Given the description of an element on the screen output the (x, y) to click on. 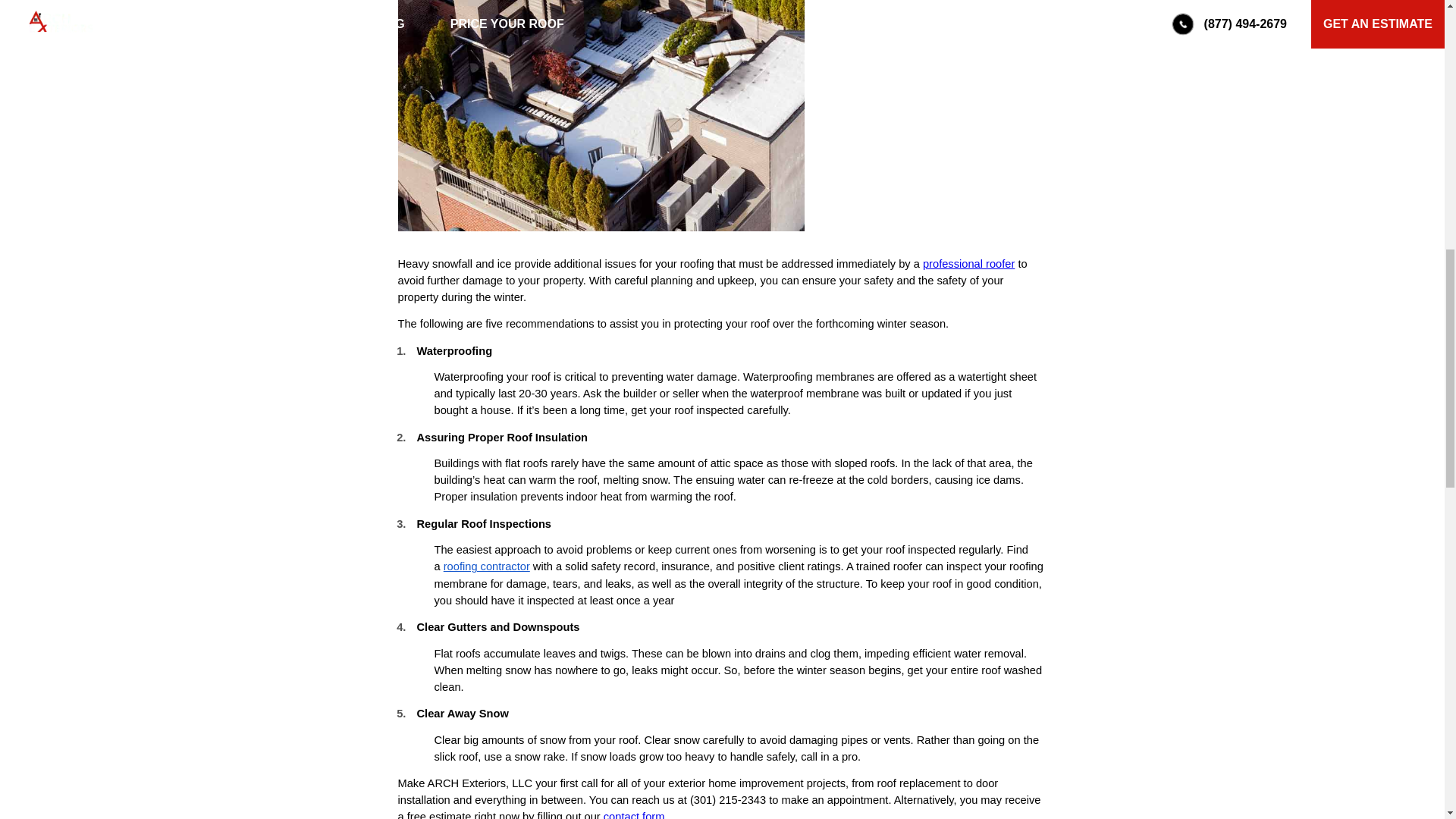
roofing contractor (486, 565)
professional roofer (968, 263)
contact form (634, 814)
